Given the description of an element on the screen output the (x, y) to click on. 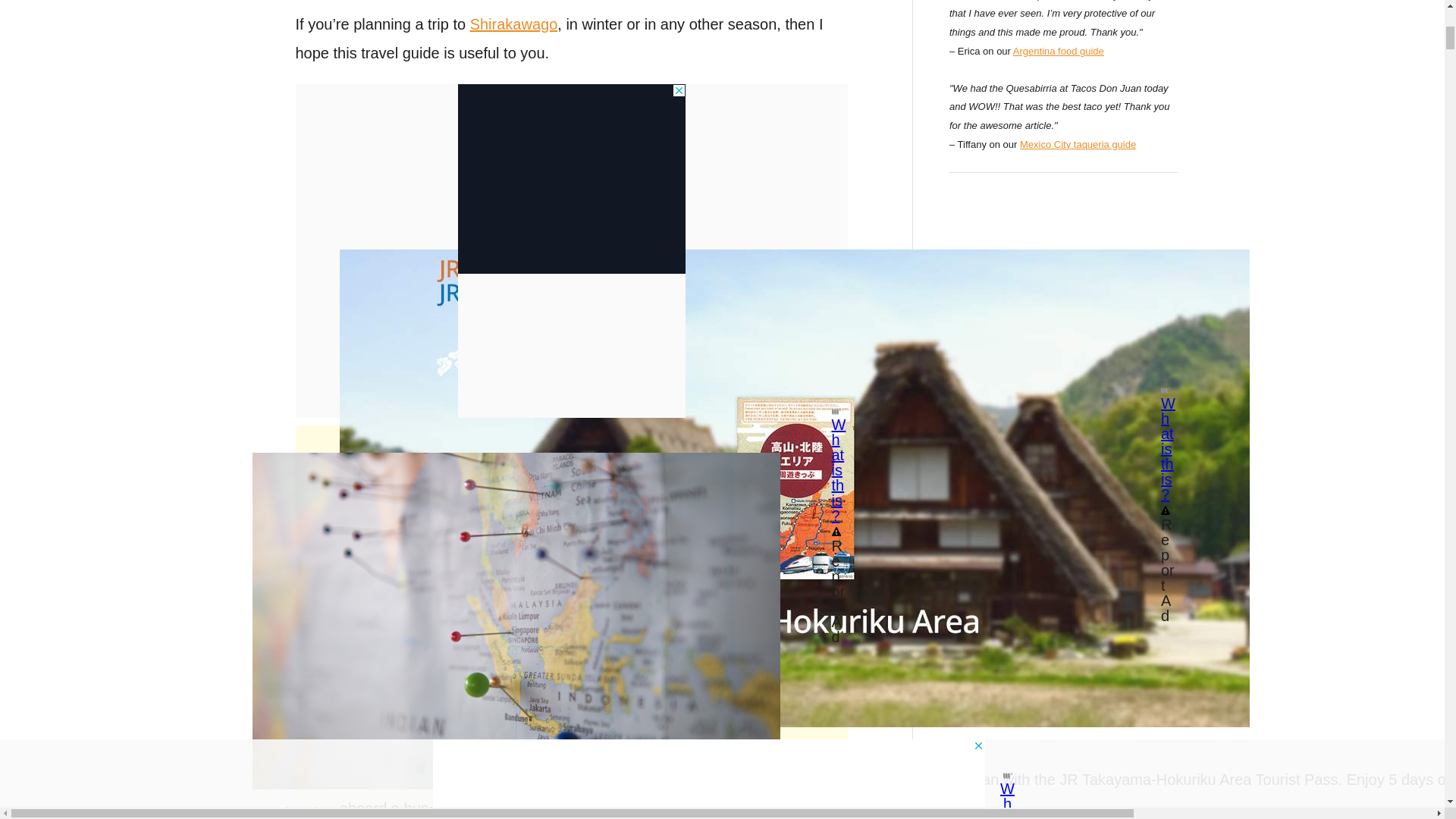
Travel Insurance with COVID cover (461, 812)
Visa Services (389, 780)
Takayama and Shirakawa-go Day Trip from Nagoya (622, 706)
3rd party ad content (571, 178)
Shirakawa-go (404, 508)
Shirakawago (513, 23)
Guided Day Trip to Takayama and Shirakawa-goa (634, 610)
